Given the description of an element on the screen output the (x, y) to click on. 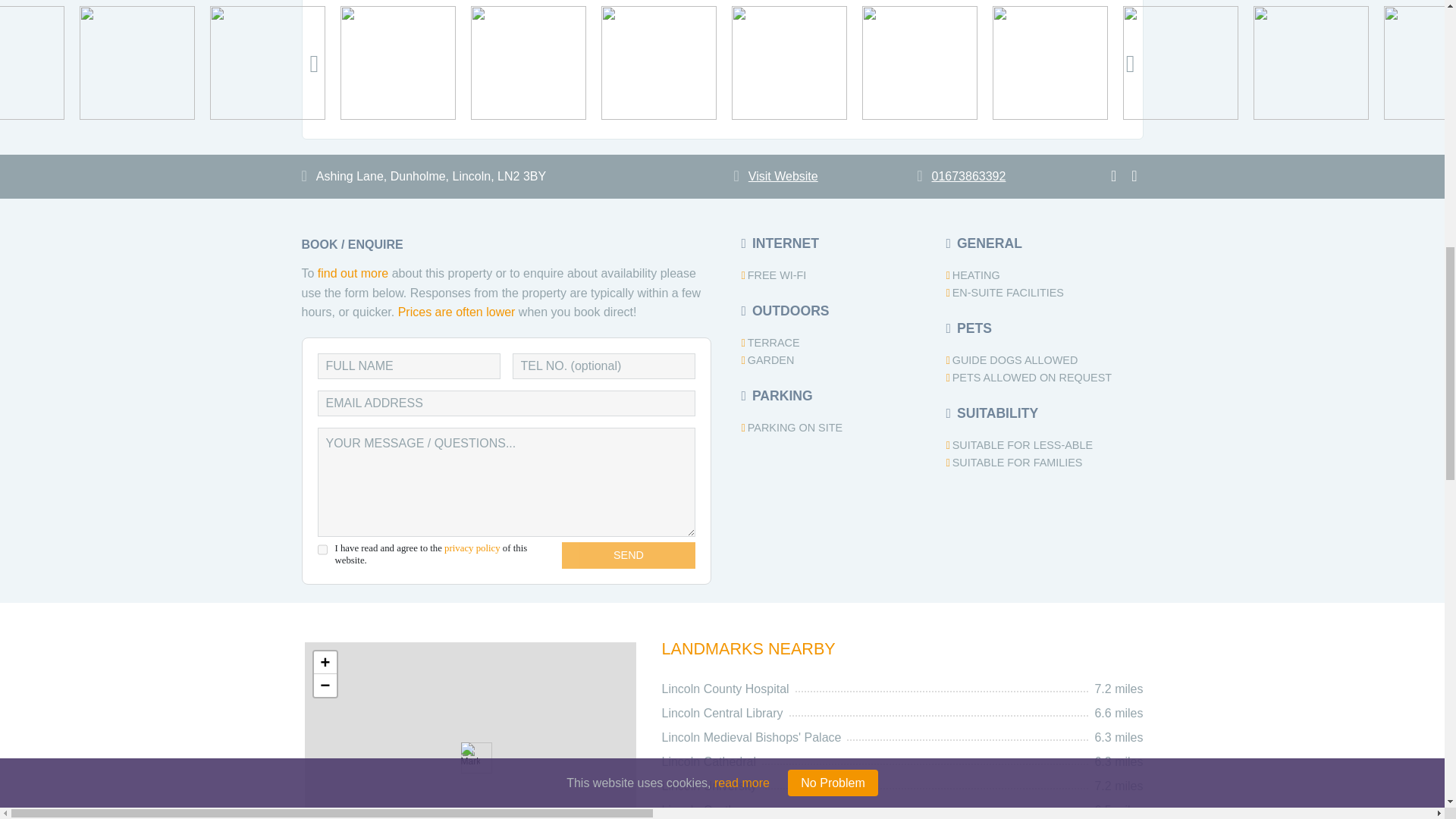
Zoom out (325, 685)
Zoom in (325, 662)
